Given the description of an element on the screen output the (x, y) to click on. 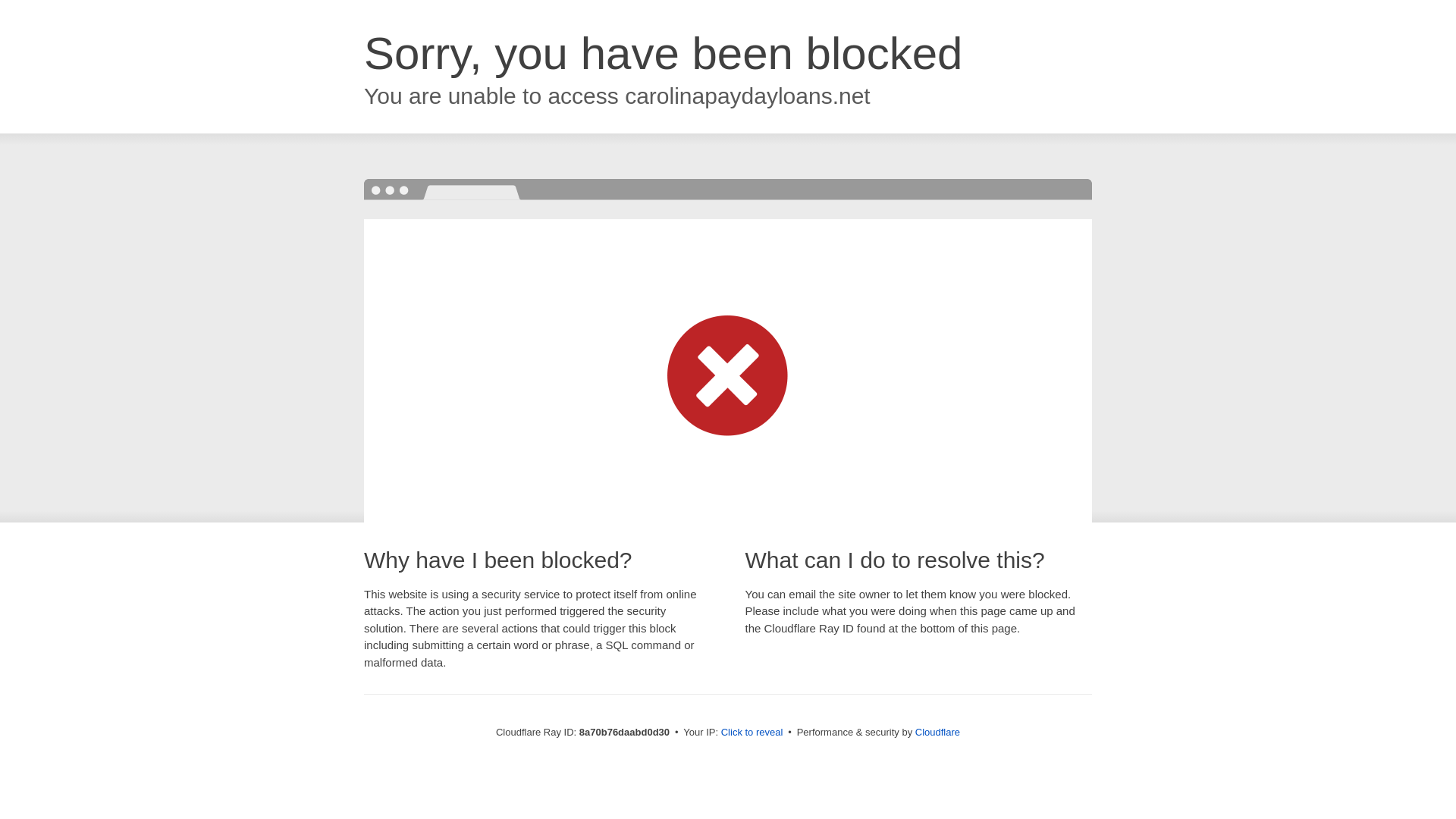
Click to reveal (751, 732)
Cloudflare (937, 731)
